Given the description of an element on the screen output the (x, y) to click on. 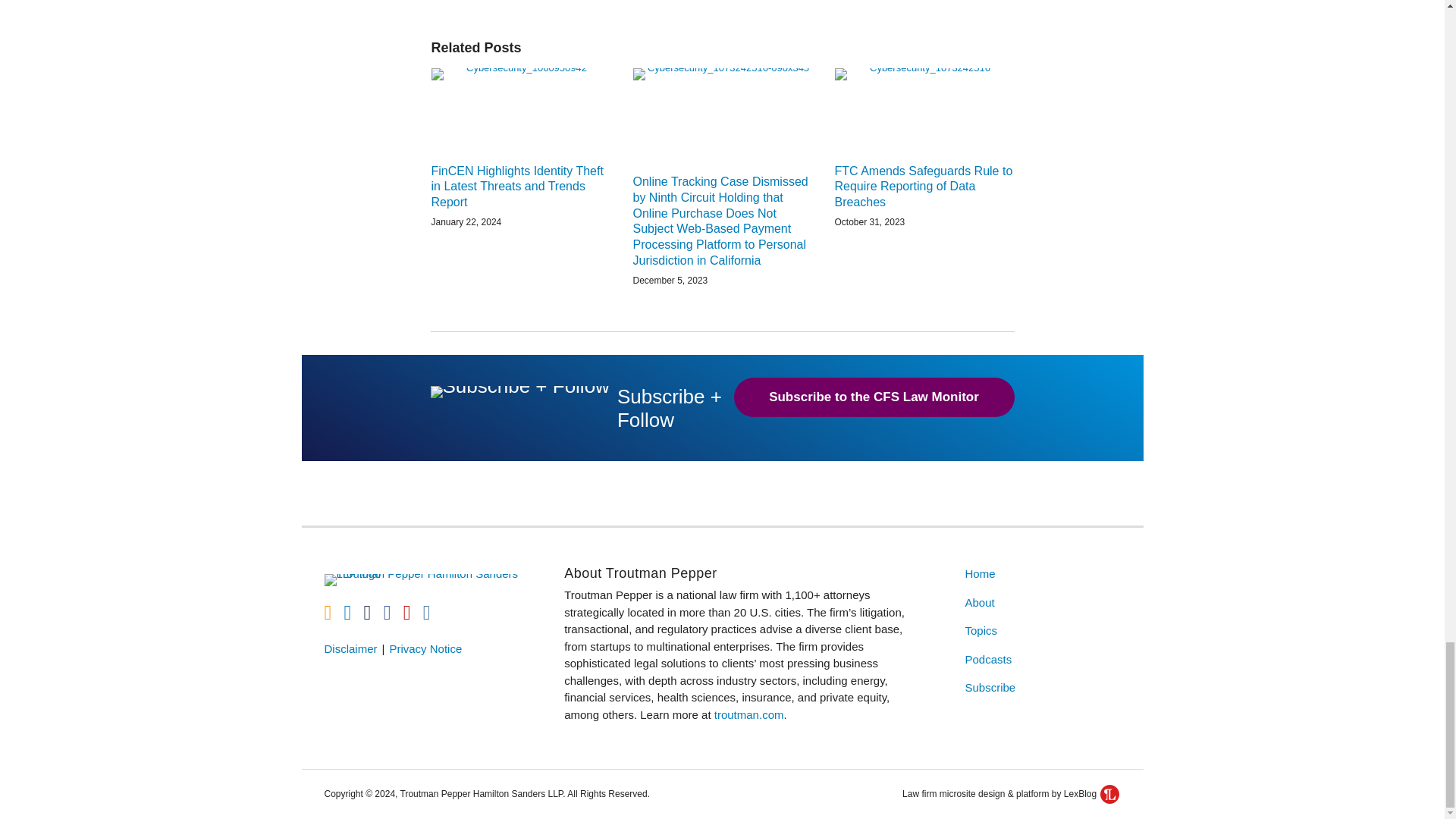
LexBlog Logo (1109, 793)
